Given the description of an element on the screen output the (x, y) to click on. 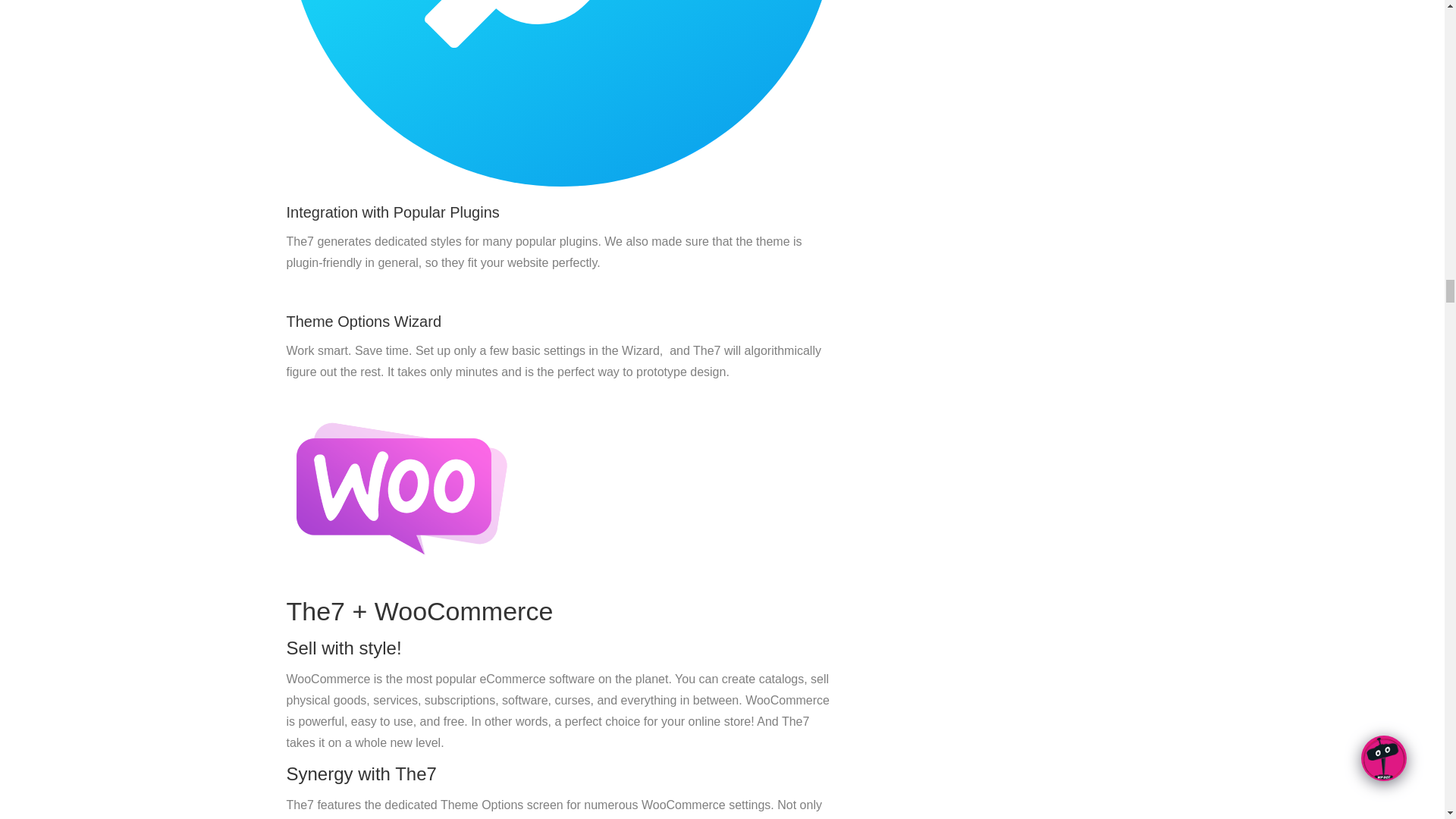
wpb-optionsplugins (560, 93)
p004 (399, 484)
